Given the description of an element on the screen output the (x, y) to click on. 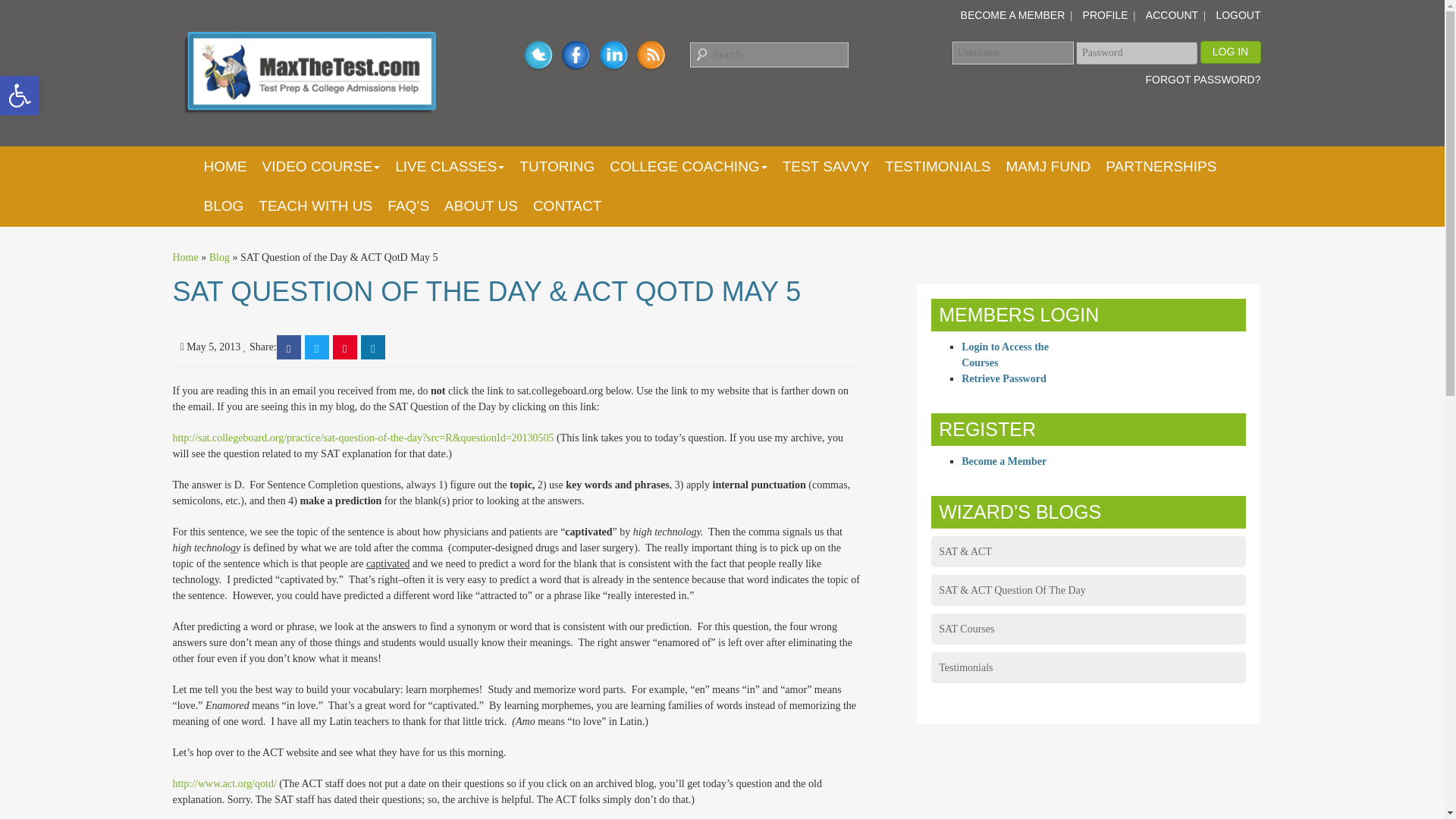
TEST SAVVY (825, 166)
PROFILE (1105, 15)
VIDEO COURSE (321, 166)
LOGOUT (1237, 15)
TUTORING (557, 166)
PARTNERSHIPS (1160, 166)
MAMJ FUND (1047, 166)
Accessibility Tools (19, 95)
Log In (1229, 51)
BECOME A MEMBER (1012, 15)
